Given the description of an element on the screen output the (x, y) to click on. 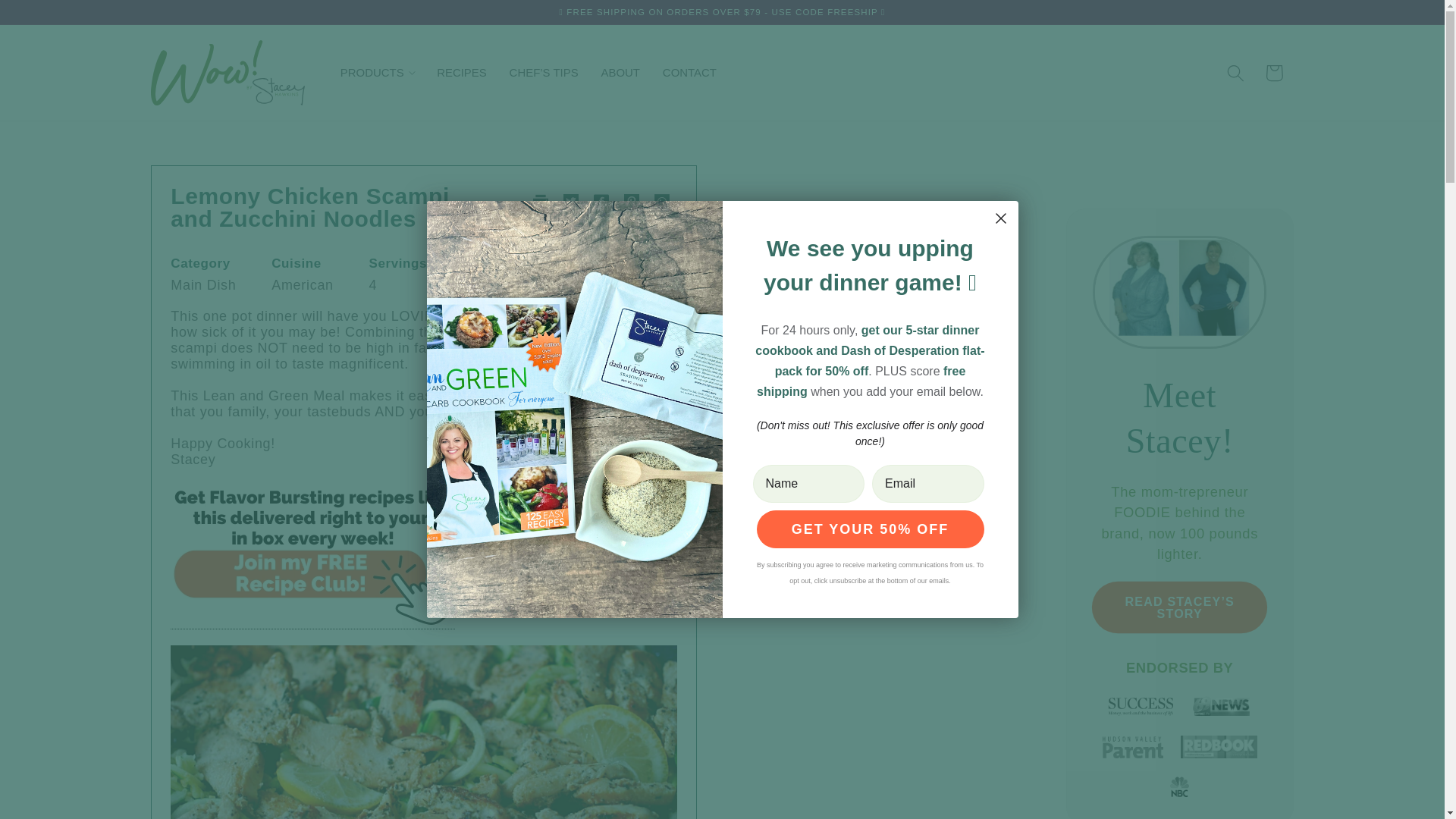
Cart (1274, 73)
ABOUT (619, 72)
RECIPES (461, 72)
PRODUCTS (377, 72)
SKIP TO CONTENT (51, 12)
CONTACT (689, 72)
